Given the description of an element on the screen output the (x, y) to click on. 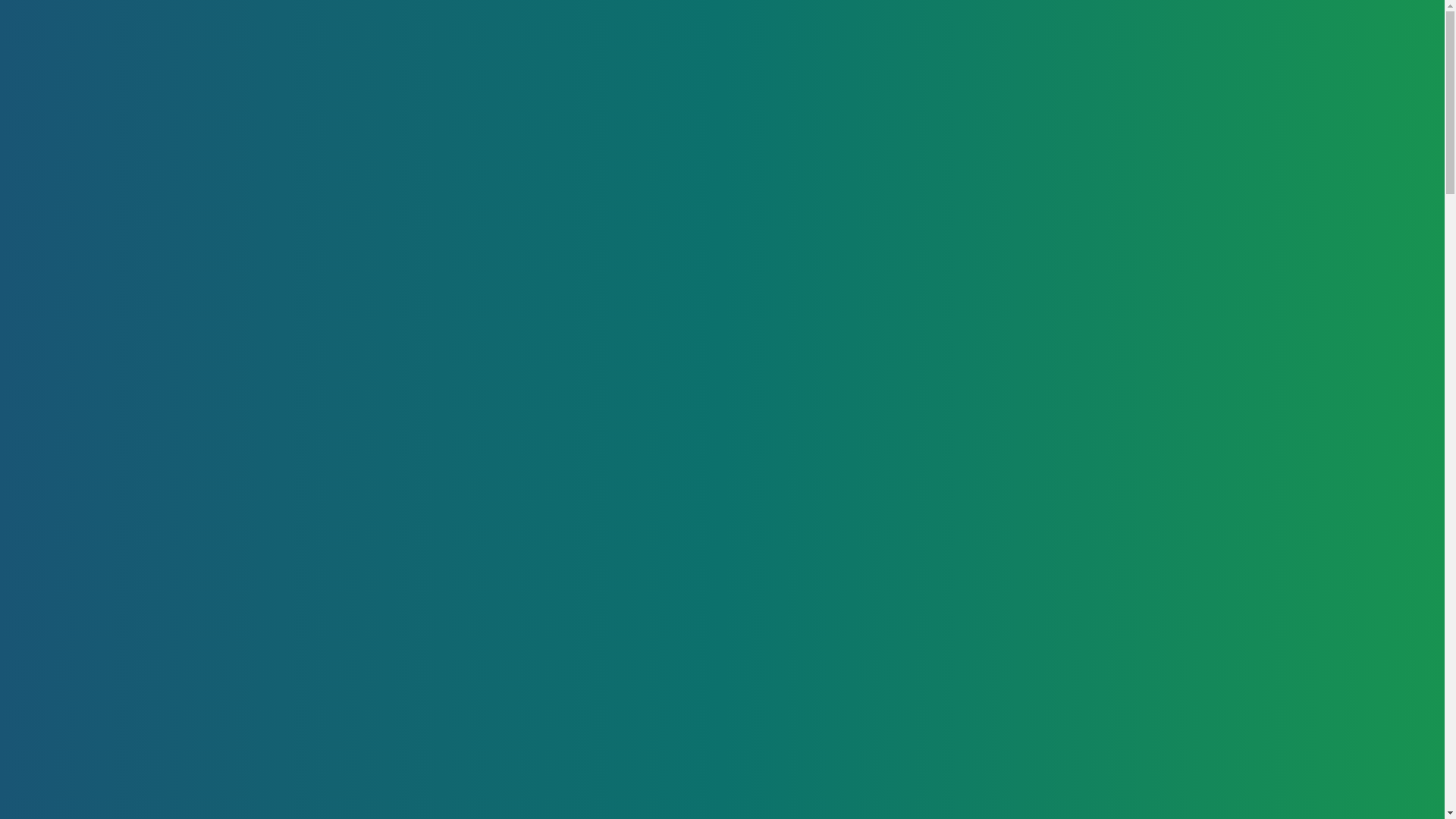
Drainage (993, 83)
Lining (895, 83)
Contact (1200, 82)
Home (812, 82)
Latest News (1102, 82)
